Given the description of an element on the screen output the (x, y) to click on. 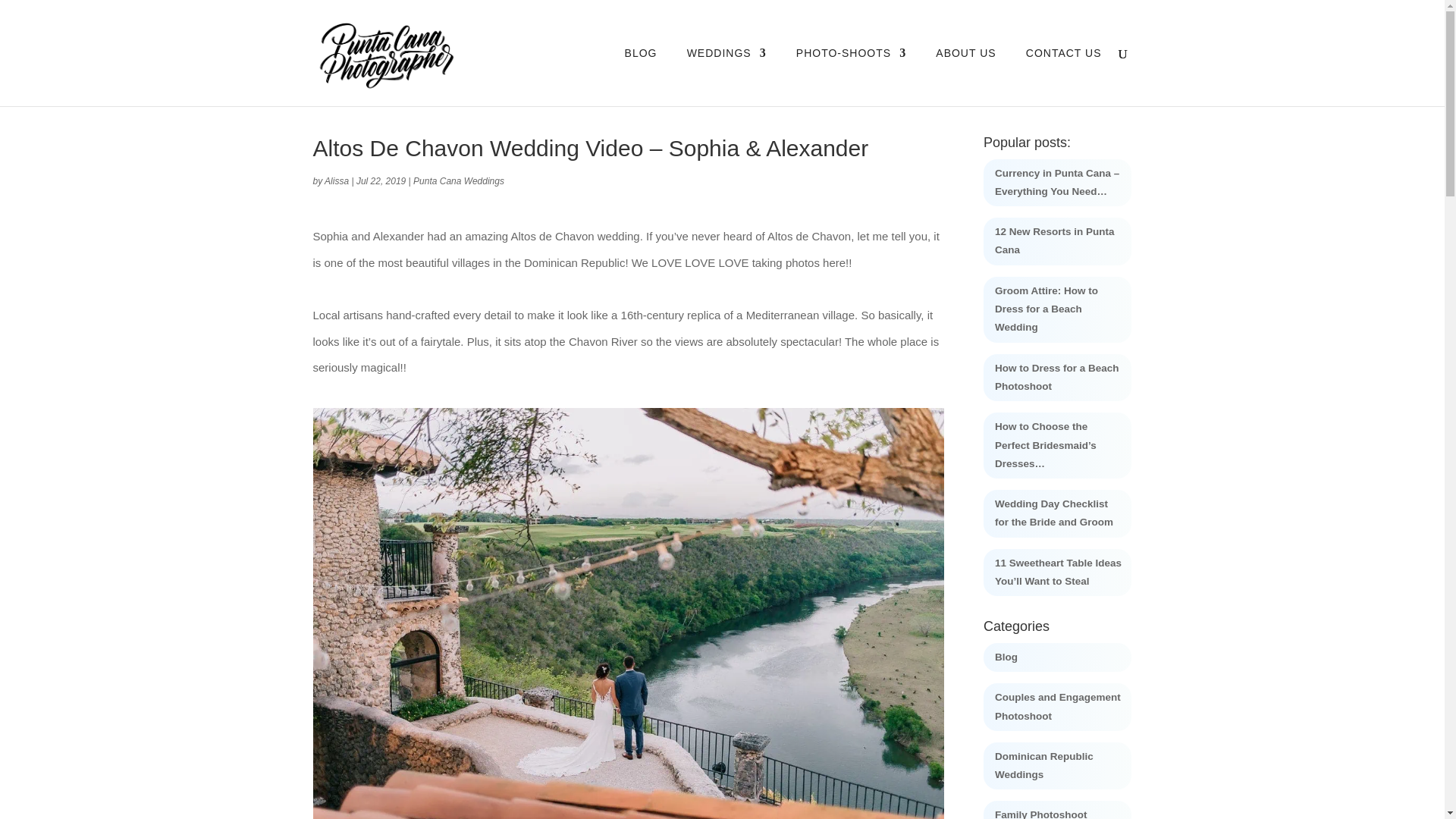
How to Dress for a Beach Photoshoot (1056, 377)
CONTACT US (1064, 76)
WEDDINGS (727, 76)
Wedding Day Checklist for the Bride and Groom (1053, 512)
12 New Resorts in Punta Cana (1054, 240)
Alissa (336, 181)
ABOUT US (965, 76)
Punta Cana Weddings (458, 181)
PHOTO-SHOOTS (850, 76)
Groom Attire: How to Dress for a Beach Wedding (1045, 309)
Posts by Alissa (336, 181)
Blog (1005, 656)
BLOG (641, 76)
